Given the description of an element on the screen output the (x, y) to click on. 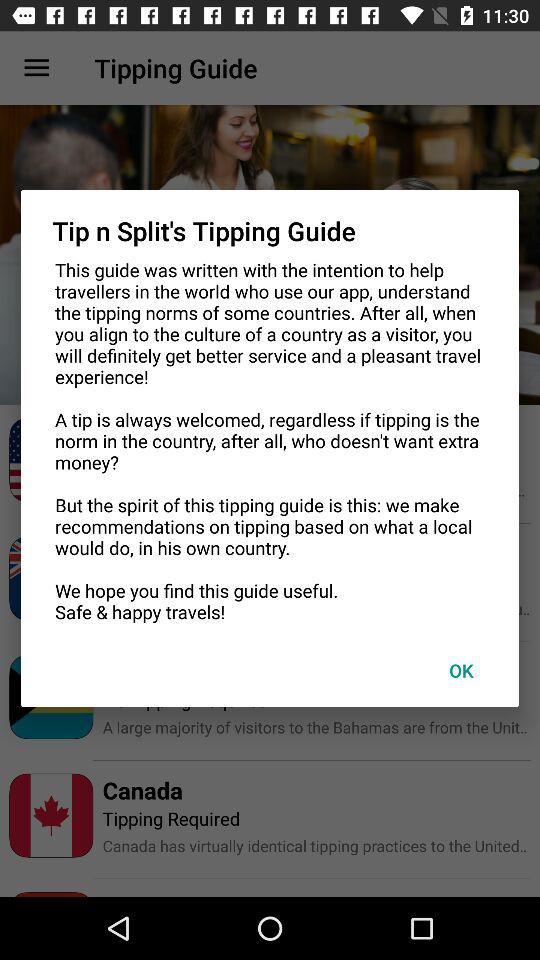
click ok at the bottom right corner (461, 669)
